Given the description of an element on the screen output the (x, y) to click on. 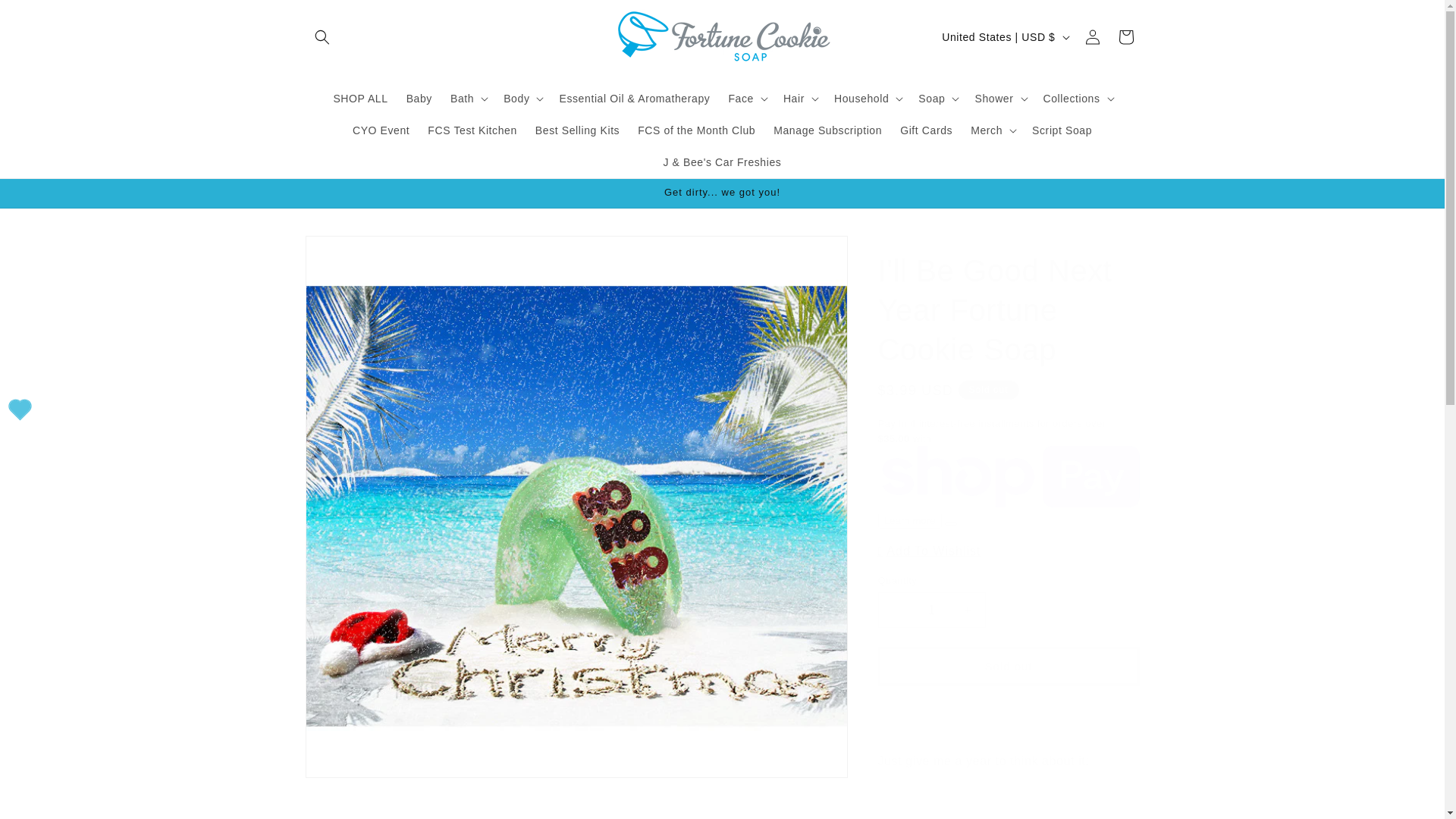
Wishlist (19, 409)
1 (931, 610)
Skip to content (47, 18)
